Given the description of an element on the screen output the (x, y) to click on. 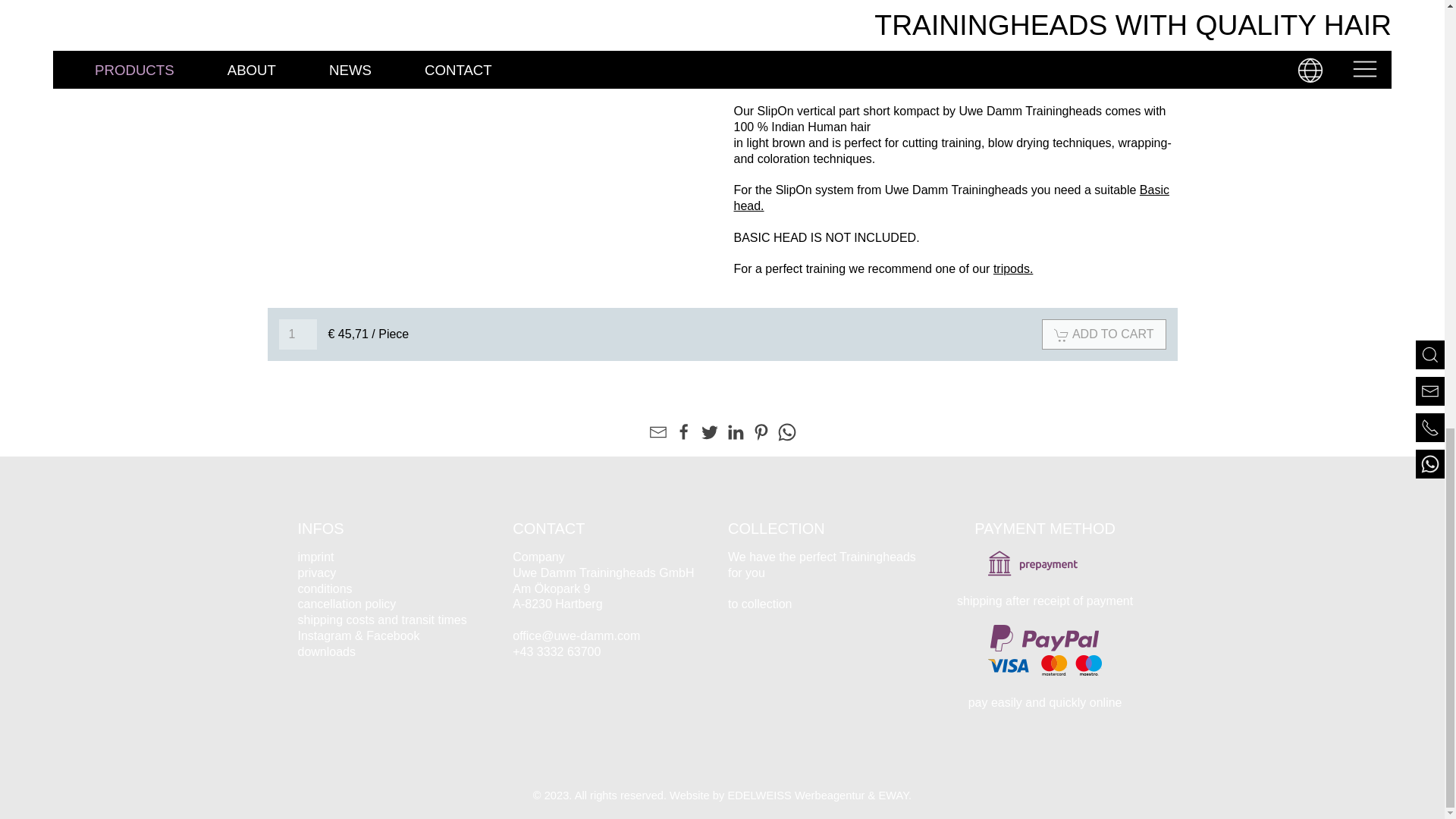
ADD TO CART (1104, 334)
1 (298, 334)
Basic head. (951, 197)
tripods. (1012, 268)
